Given the description of an element on the screen output the (x, y) to click on. 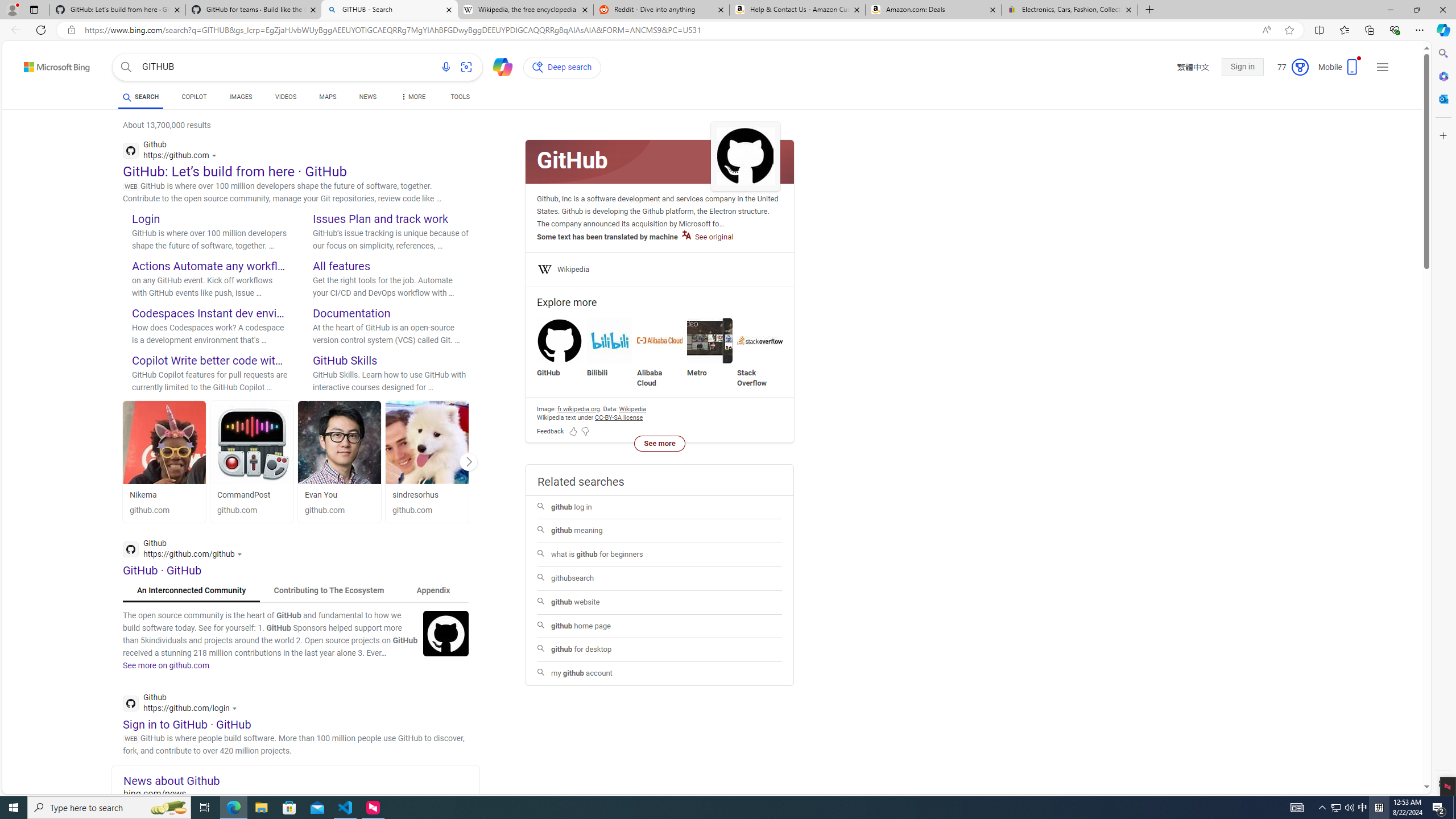
Explore more Metro (709, 347)
Explore more Alibaba Cloud (659, 352)
